Given the description of an element on the screen output the (x, y) to click on. 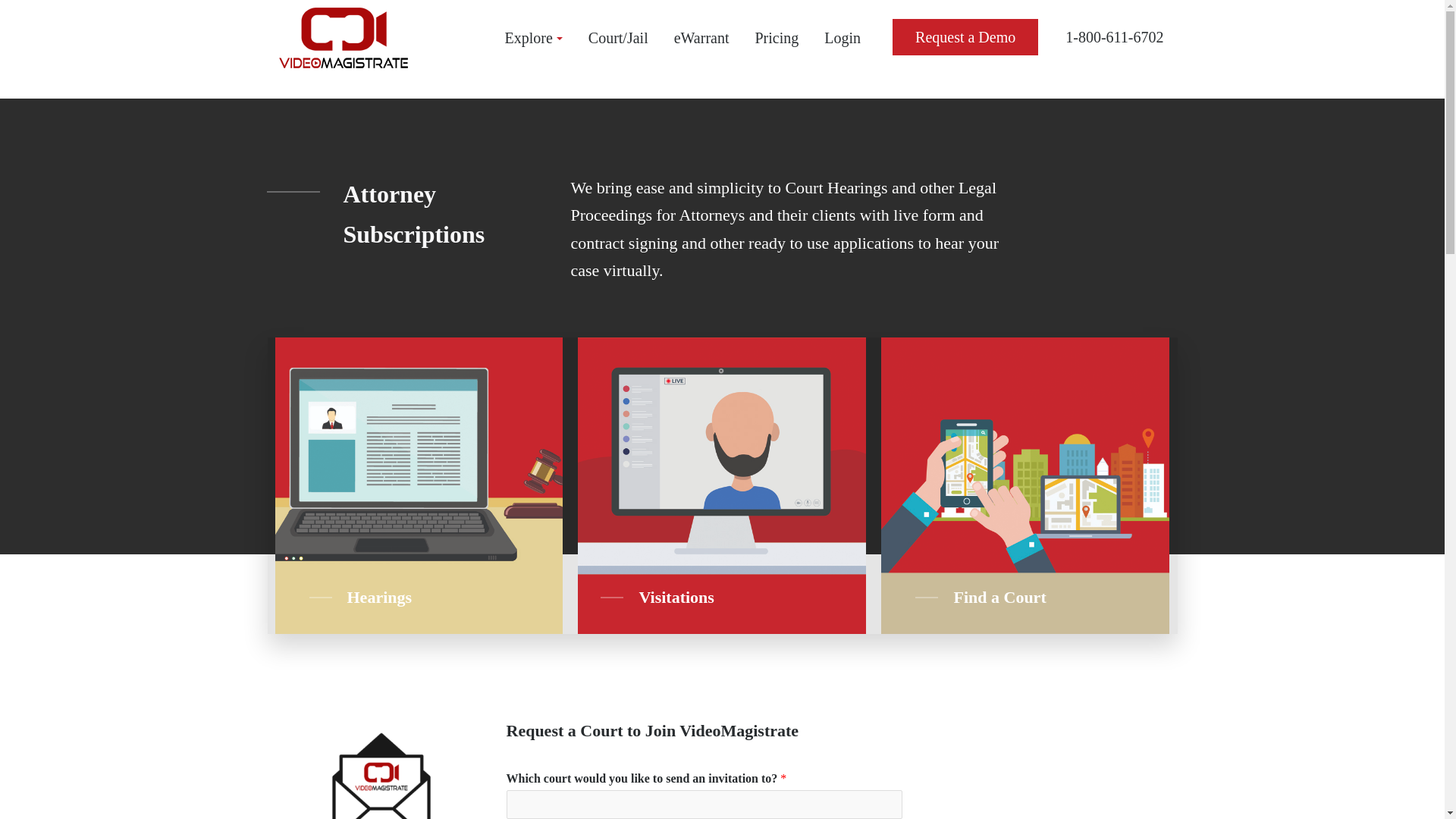
Find a Court (999, 597)
Request a Demo (965, 36)
Explore (534, 38)
eWarrant (701, 38)
RSVP4 (381, 768)
Hearings  (381, 597)
Login (842, 38)
Pricing (776, 38)
Visitations (676, 597)
1-800-611-6702 (1114, 36)
